Given the description of an element on the screen output the (x, y) to click on. 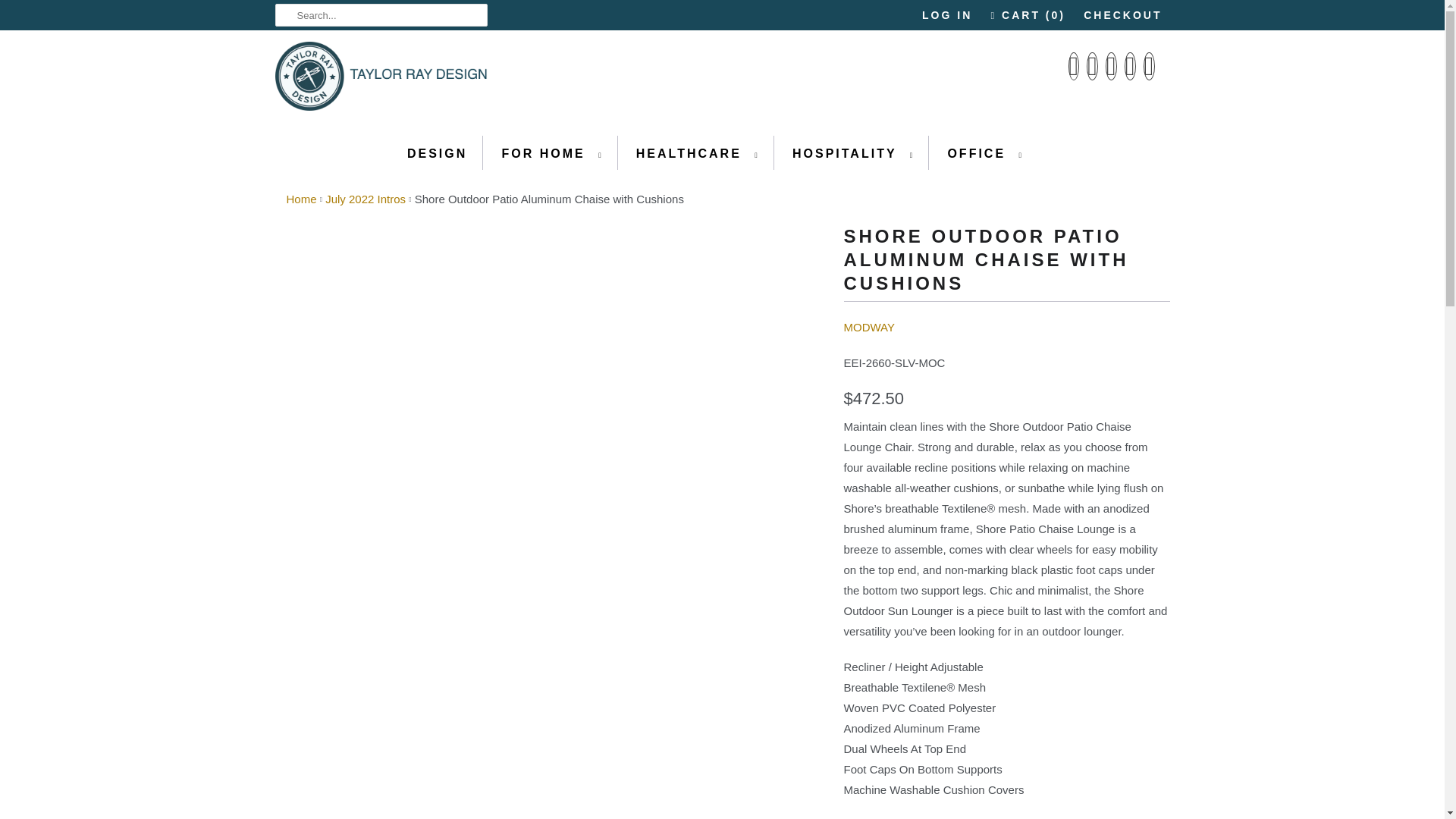
LOG IN (946, 15)
FOR HOME  (550, 153)
taylor ray decor (301, 198)
CHECKOUT (1122, 15)
July 2022 Intros (365, 198)
taylor ray decor (380, 80)
DESIGN (437, 153)
